Given the description of an element on the screen output the (x, y) to click on. 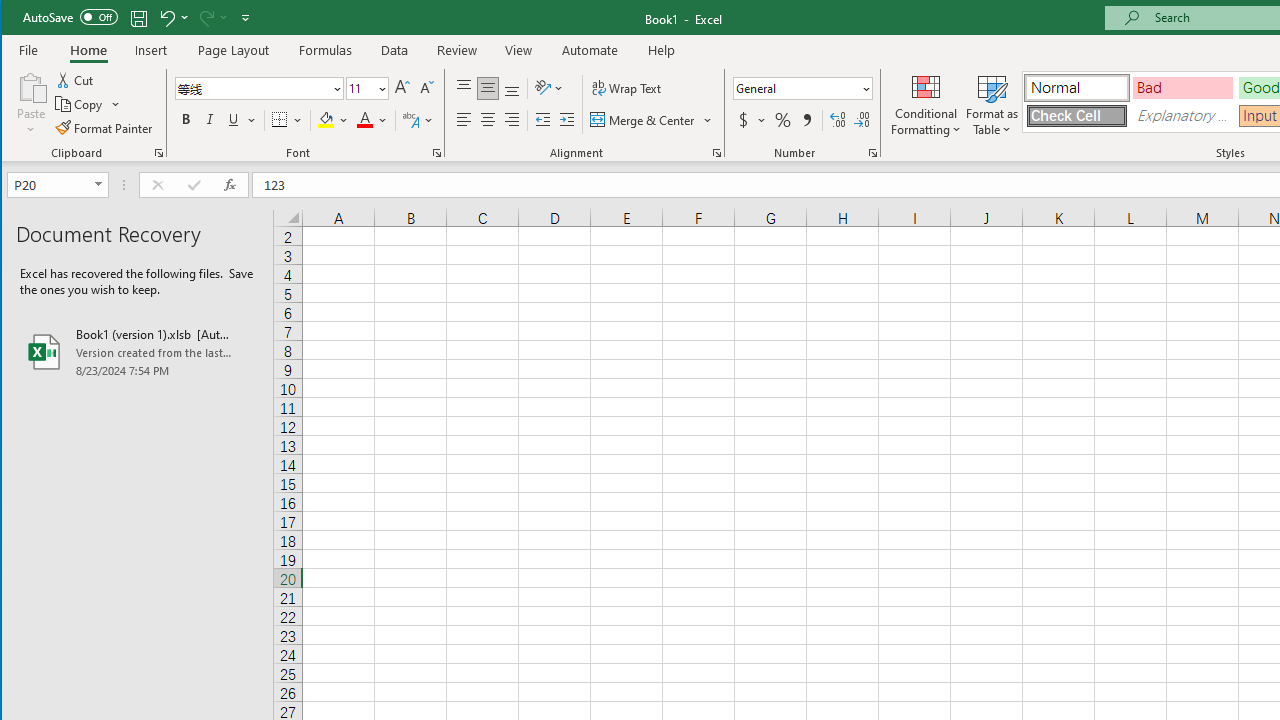
Copy (80, 103)
Percent Style (782, 119)
Show Phonetic Field (417, 119)
Accounting Number Format (751, 119)
Format Cell Number (872, 152)
Fill Color RGB(255, 255, 0) (325, 119)
Font Color (372, 119)
Paste (31, 86)
Format Painter (105, 127)
Format as Table (992, 104)
